Given the description of an element on the screen output the (x, y) to click on. 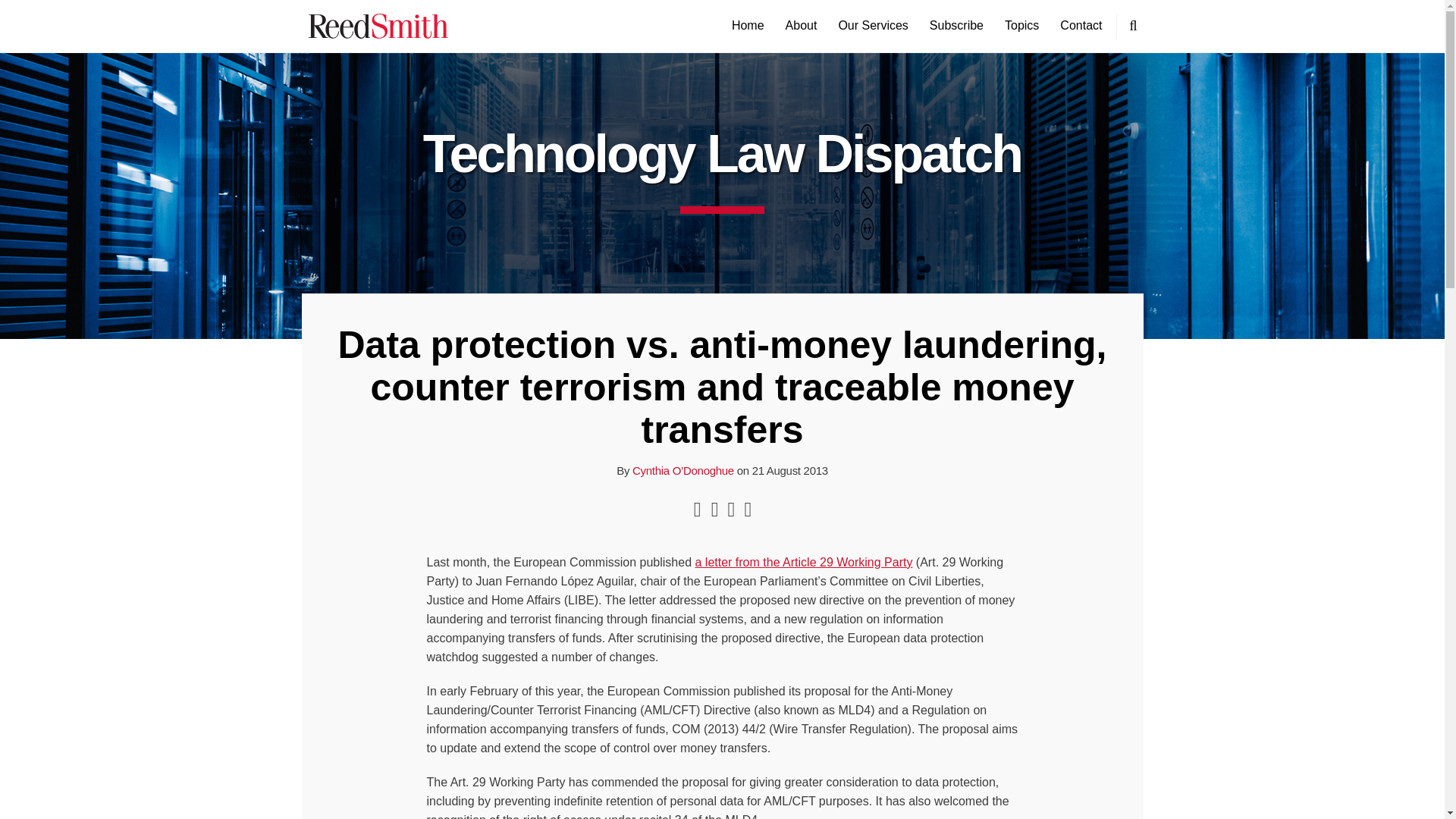
Subscribe (957, 25)
Technology Law Dispatch (722, 153)
Home (748, 25)
a letter from the Article 29 Working Party (803, 562)
Our Services (872, 25)
About (801, 25)
Topics (1021, 25)
Contact (1080, 25)
